Given the description of an element on the screen output the (x, y) to click on. 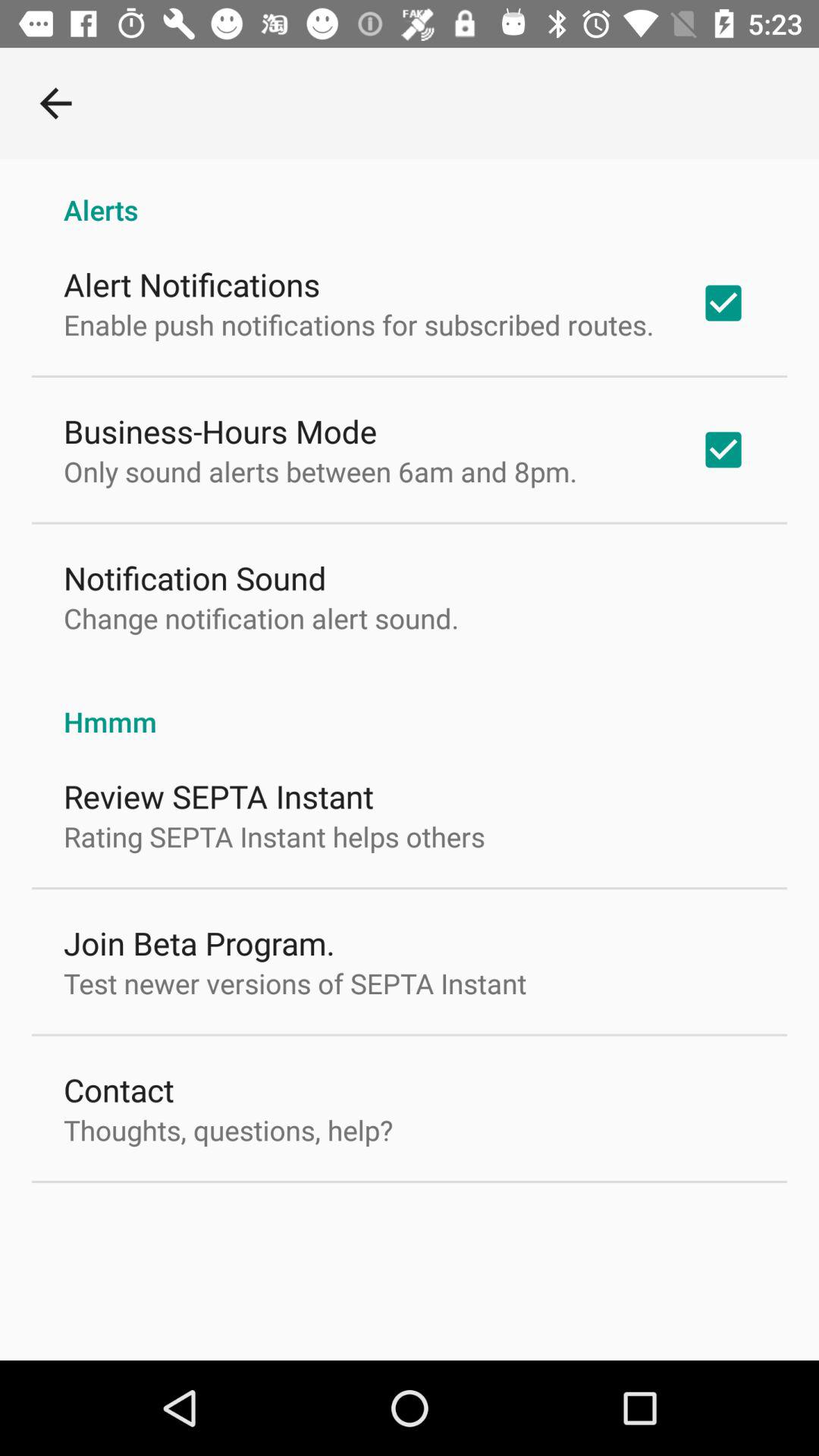
turn off test newer versions item (294, 983)
